Given the description of an element on the screen output the (x, y) to click on. 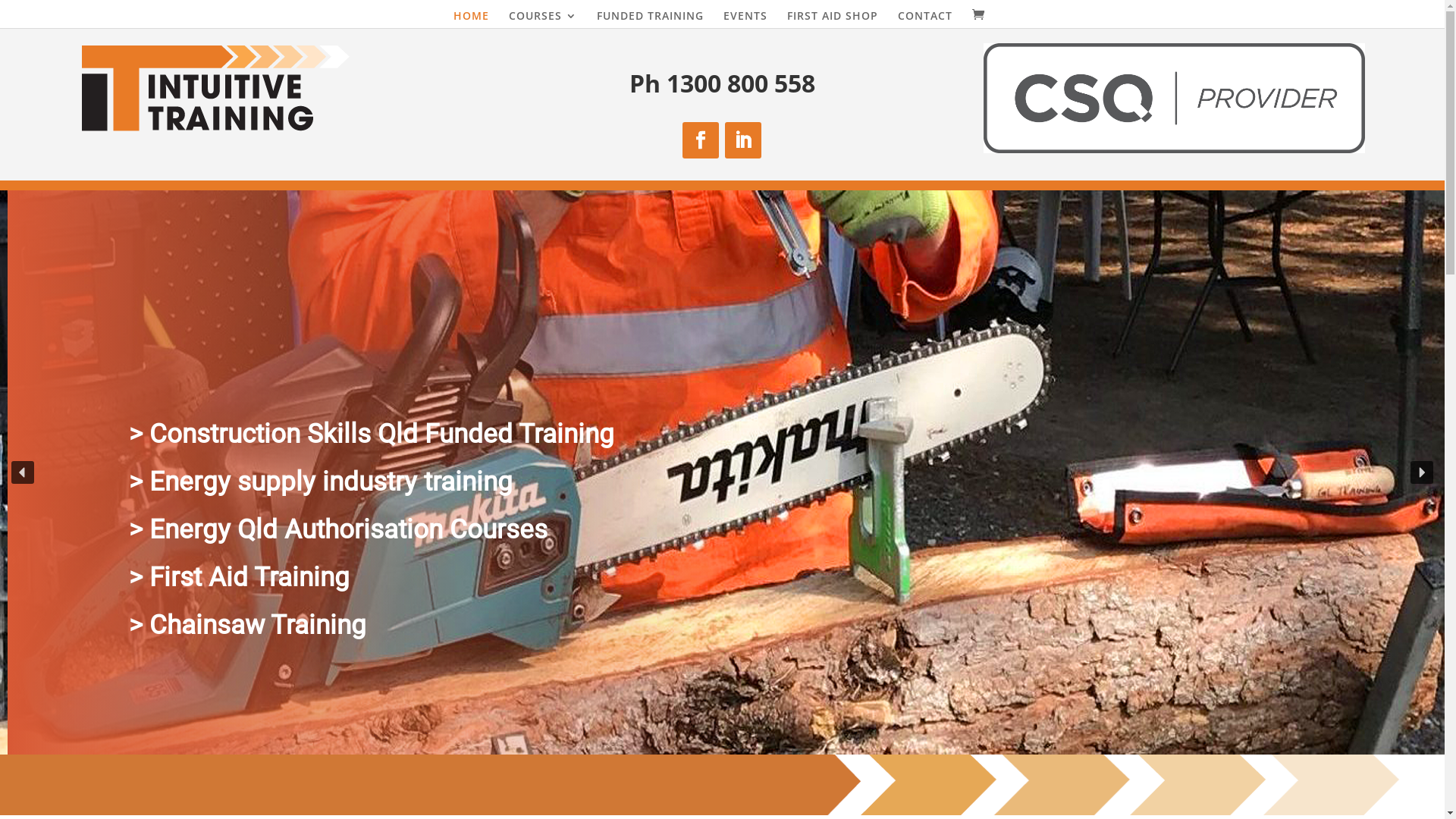
web-banner-event-static Element type: hover (722, 784)
Follow on LinkedIn Element type: hover (742, 140)
HOME Element type: text (471, 19)
FIRST AID SHOP Element type: text (832, 19)
FUNDED TRAINING Element type: text (649, 19)
CONTACT Element type: text (924, 19)
Follow on Facebook Element type: hover (700, 140)
EVENTS Element type: text (745, 19)
COURSES Element type: text (542, 19)
CSQ-Partner-logo_secondary CMYK Element type: hover (1174, 98)
